Given the description of an element on the screen output the (x, y) to click on. 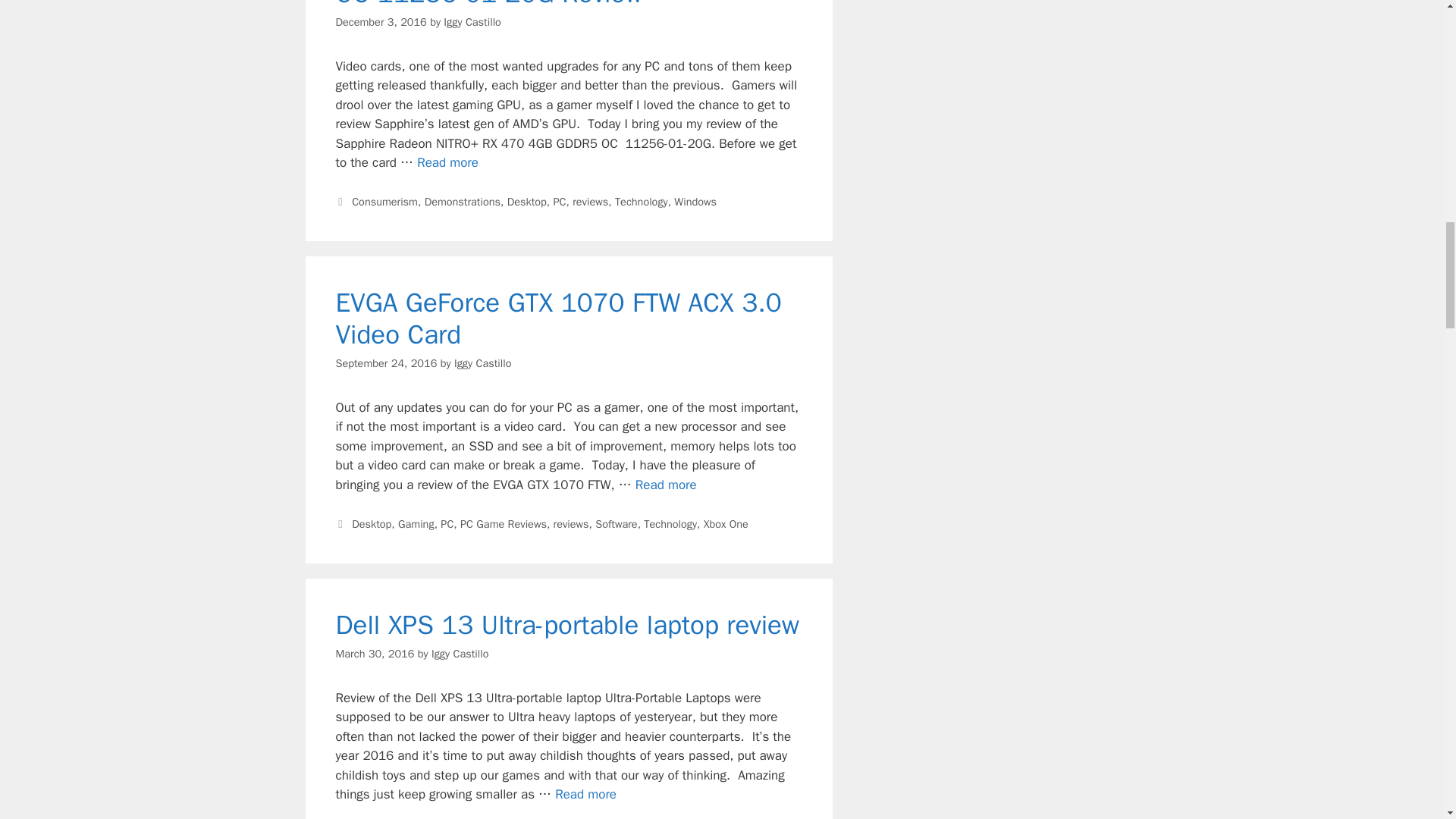
View all posts by Iggy Castillo (472, 21)
EVGA GeForce GTX 1070 FTW ACX 3.0 Video Card (665, 484)
View all posts by Iggy Castillo (483, 363)
